Given the description of an element on the screen output the (x, y) to click on. 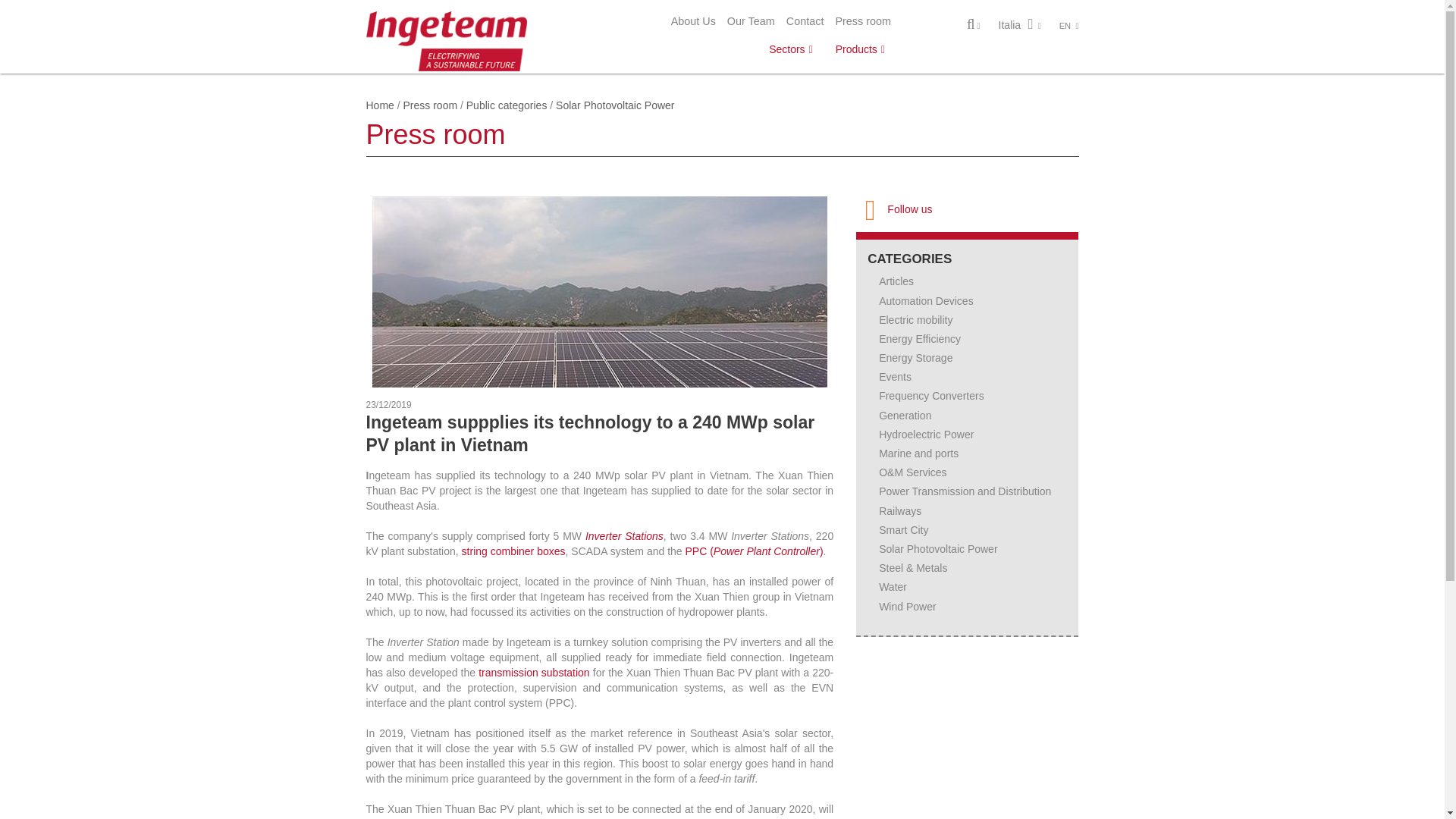
About Us (692, 21)
Contact (805, 21)
Ingeteam (446, 39)
Press room (863, 21)
Our Team (750, 21)
